Given the description of an element on the screen output the (x, y) to click on. 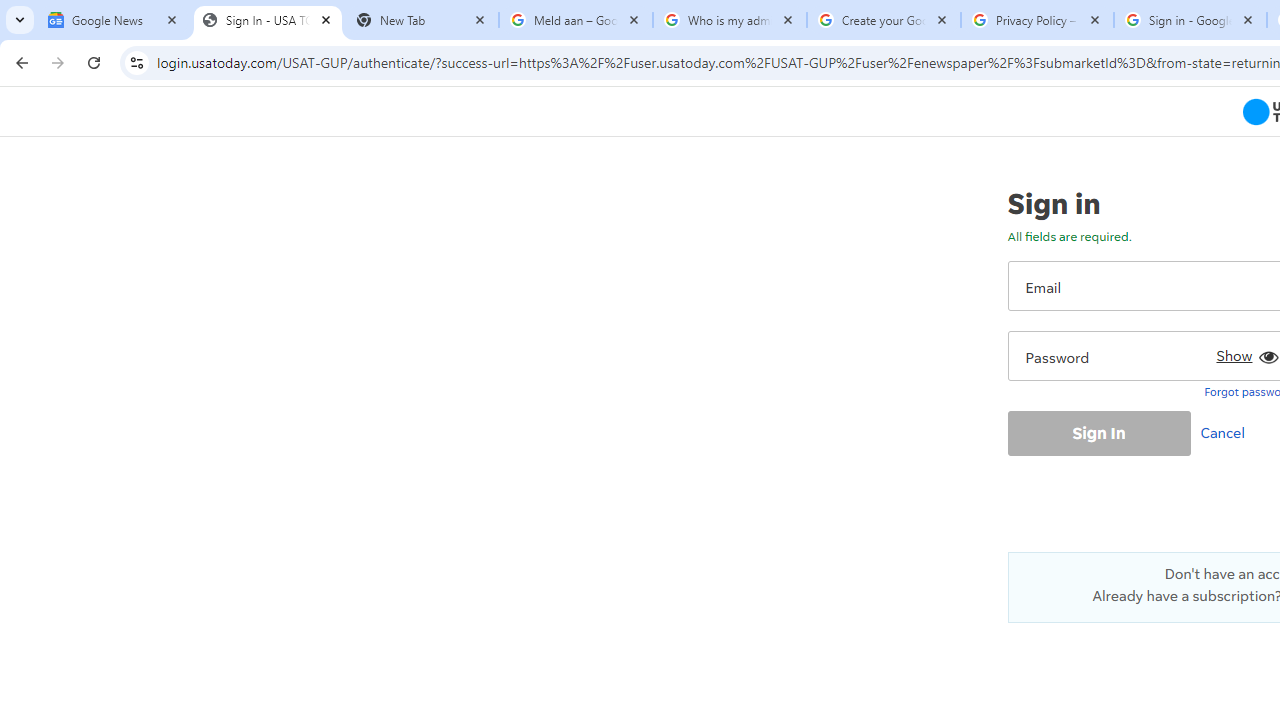
Show (1244, 351)
Create your Google Account (883, 20)
Sign In - USA TODAY (267, 20)
Sign in - Google Accounts (1190, 20)
Cancel (1227, 431)
Who is my administrator? - Google Account Help (729, 20)
Google News (113, 20)
